Given the description of an element on the screen output the (x, y) to click on. 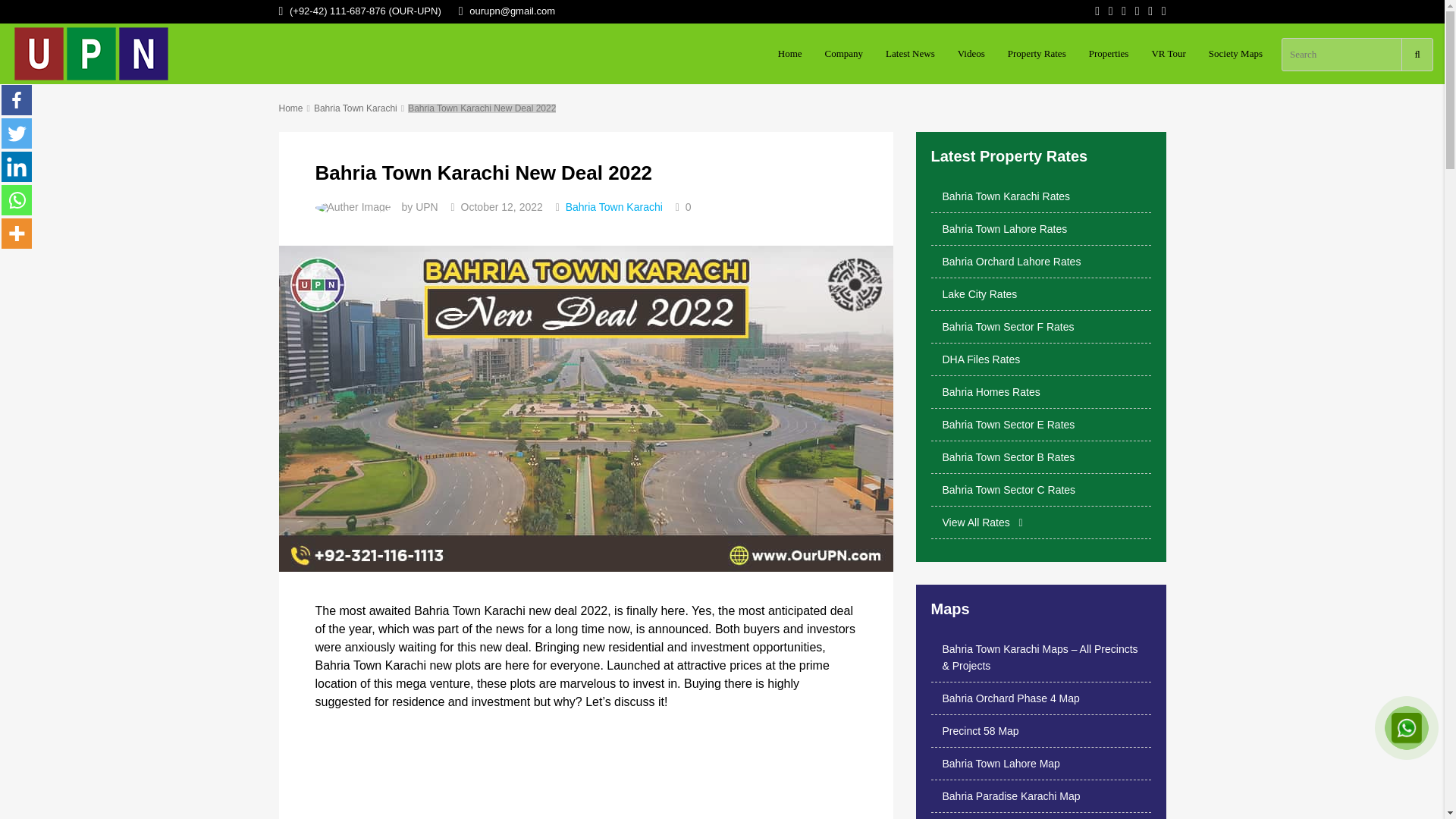
Latest News (910, 53)
Twitter (16, 132)
Home (790, 53)
More (16, 233)
Properties (1108, 53)
Videos (970, 53)
Whatsapp (16, 200)
Linkedin (16, 166)
Property Rates (1036, 53)
Company (844, 53)
Facebook (16, 100)
